Given the description of an element on the screen output the (x, y) to click on. 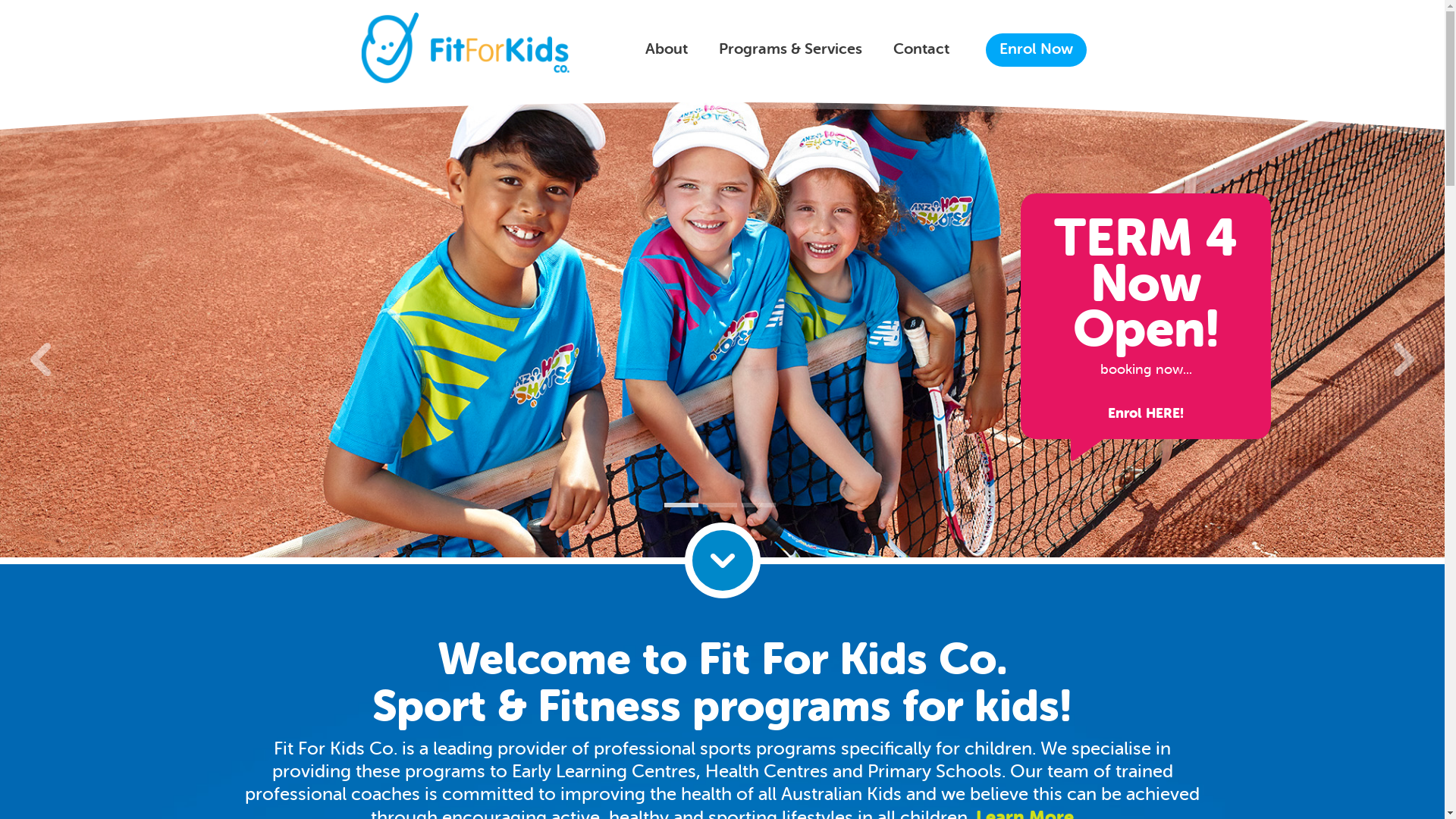
About Element type: text (665, 49)
Contact Element type: text (921, 49)
Enrol Now Element type: text (1025, 49)
Prev Element type: text (40, 357)
Next Element type: text (1403, 357)
Programs & Services Element type: text (790, 49)
2 Element type: text (719, 504)
3 Element type: text (758, 504)
1 Element type: text (681, 504)
Enrol HERE! Element type: text (1145, 412)
